Given the description of an element on the screen output the (x, y) to click on. 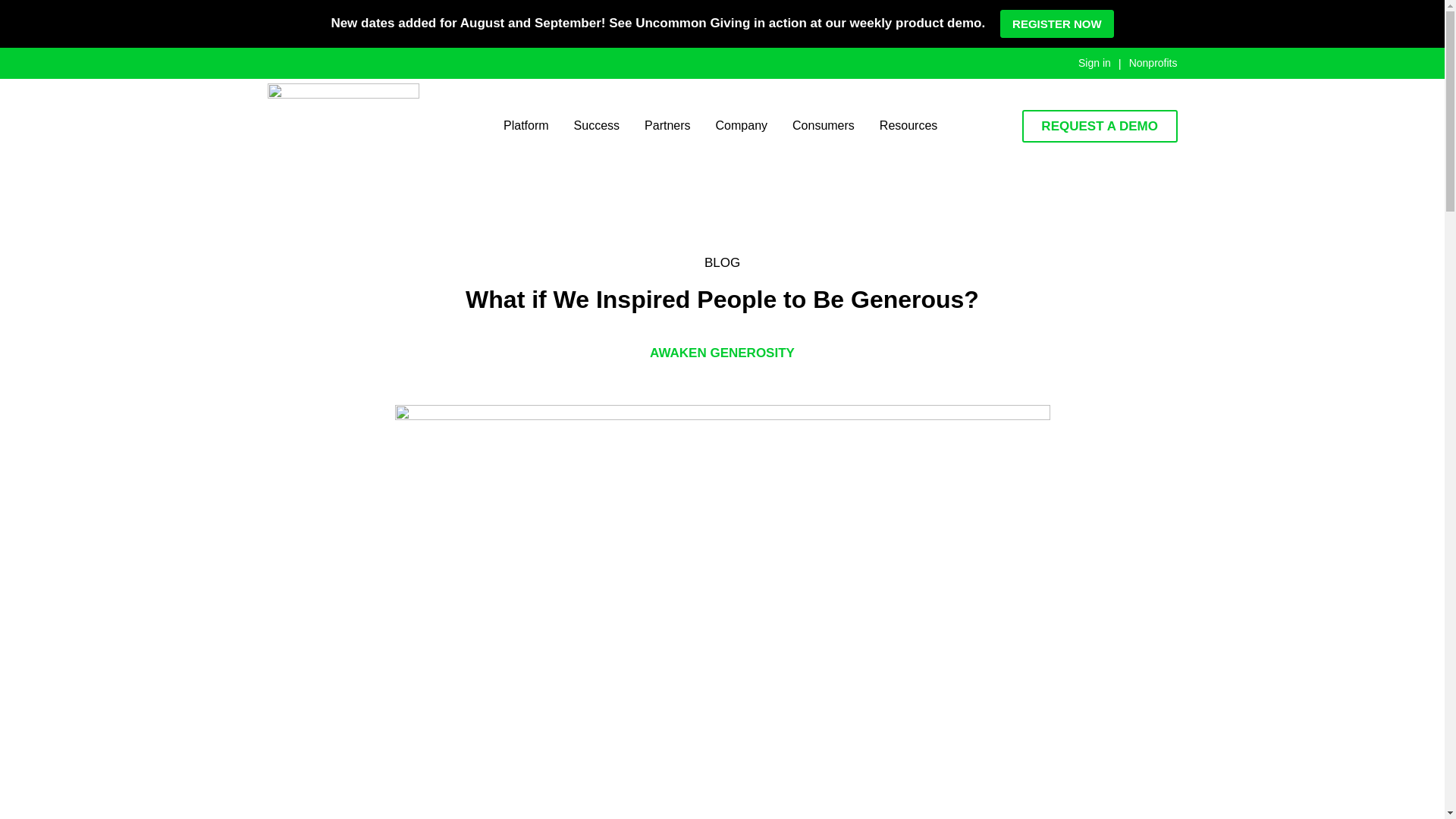
Nonprofits (1153, 63)
Platform (525, 126)
Success (596, 126)
Consumers (823, 126)
AWAKEN GENEROSITY (721, 352)
Sign in (1094, 63)
Partners (667, 126)
Resources (908, 126)
REGISTER NOW (1056, 23)
Company (741, 126)
